Given the description of an element on the screen output the (x, y) to click on. 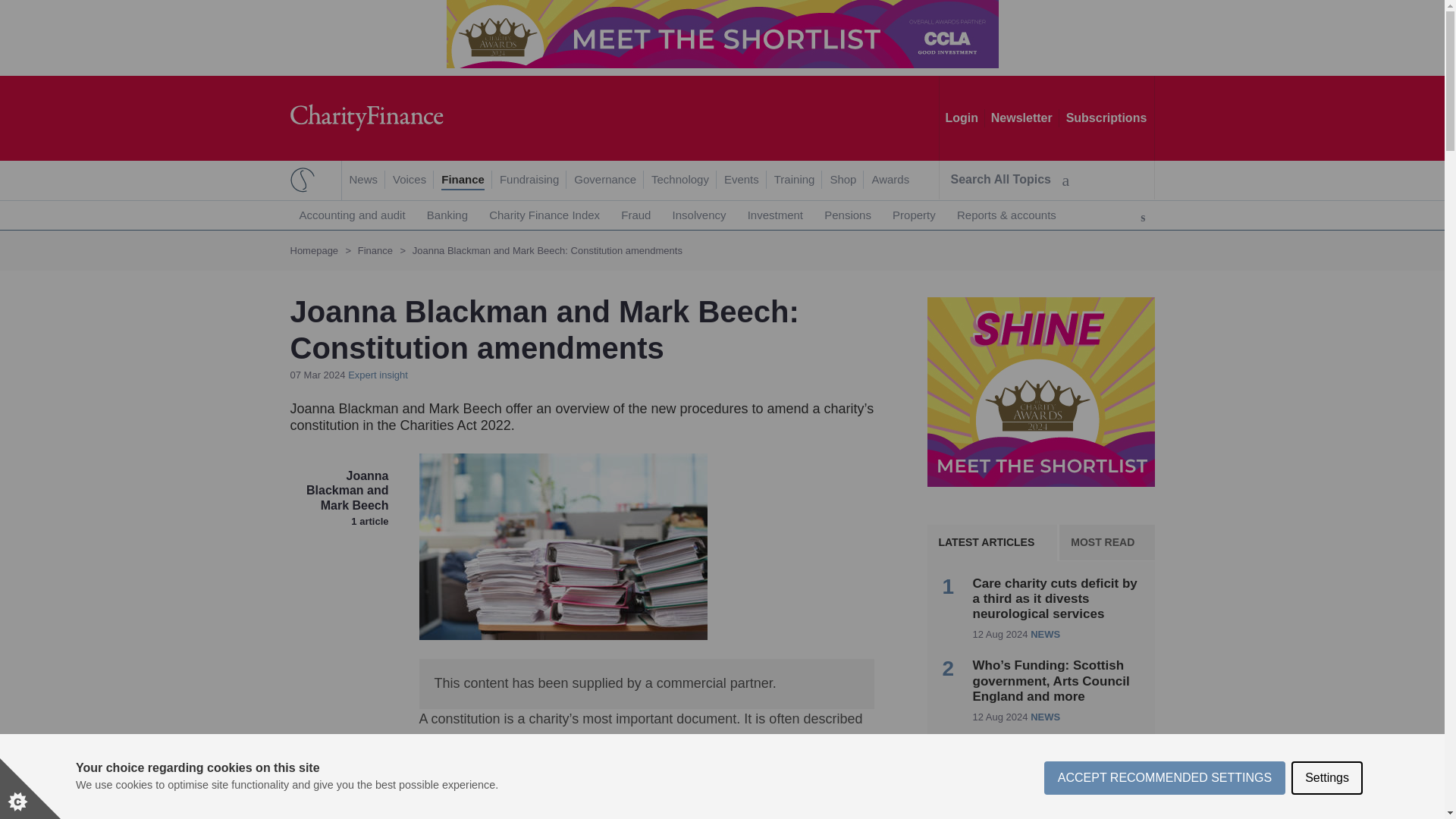
Investment (775, 214)
Insolvency (699, 214)
Voices (409, 180)
Governance (604, 180)
Awards (889, 180)
Charity Finance Index (544, 214)
News (363, 180)
Subscriptions (1105, 118)
Property (914, 214)
Pensions (847, 214)
